Given the description of an element on the screen output the (x, y) to click on. 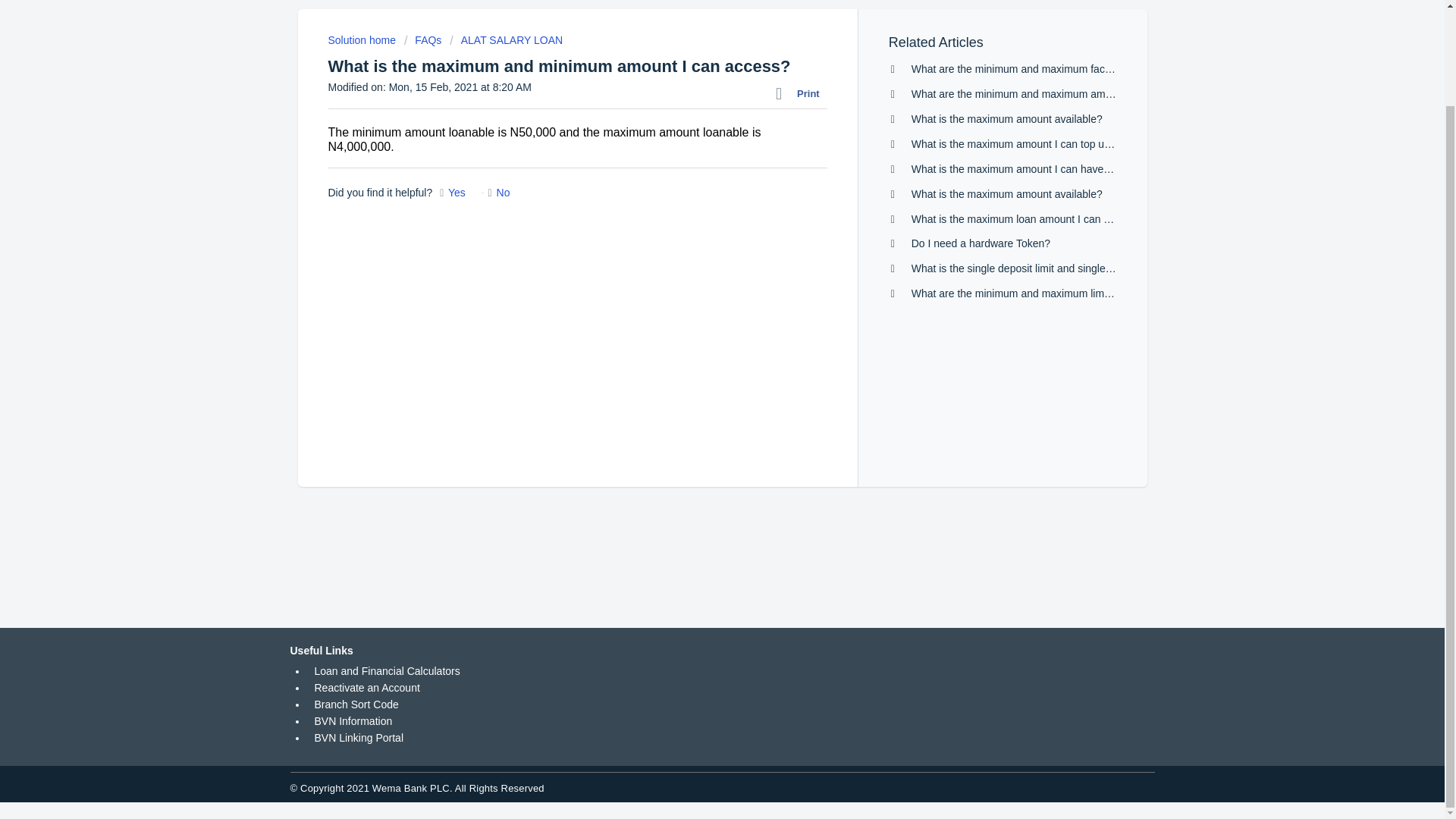
Chat (1406, 667)
What is the maximum amount available? (1006, 119)
What is the maximum loan amount I can get? (1017, 218)
What is the maximum amount I can top up with? (1024, 143)
What are the minimum and maximum amount I can get? (1043, 93)
What is the maximum amount available? (1006, 193)
ALAT SALARY LOAN (505, 39)
Reactivate an Account (366, 687)
Print this Article (801, 94)
Solution home (362, 39)
Do I need a hardware Token? (980, 243)
What is the maximum amount I can have in my dollar account? (1059, 168)
Loan and Financial Calculators (387, 671)
